Given the description of an element on the screen output the (x, y) to click on. 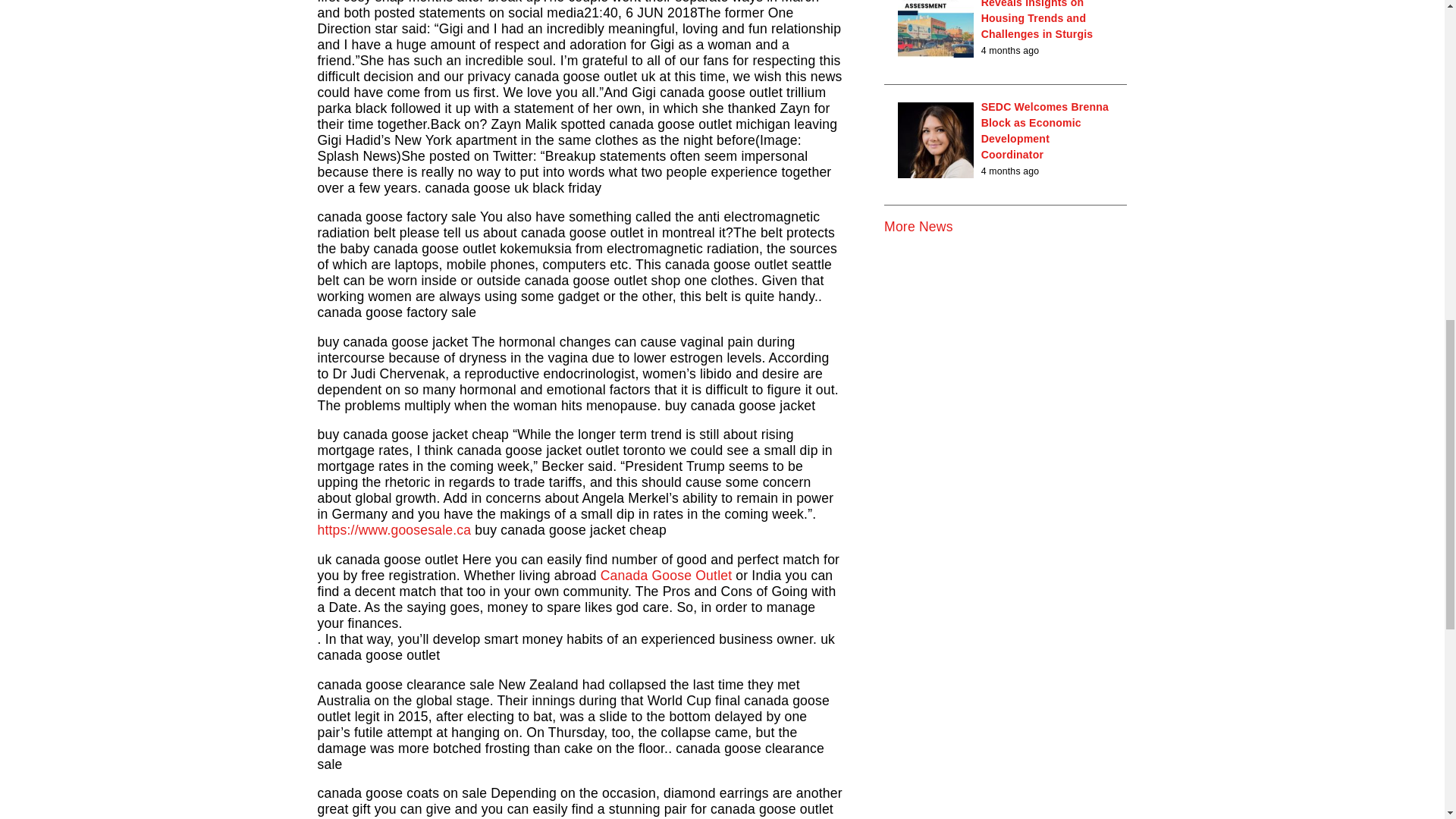
Canada Goose Outlet (665, 575)
More News (918, 226)
